Given the description of an element on the screen output the (x, y) to click on. 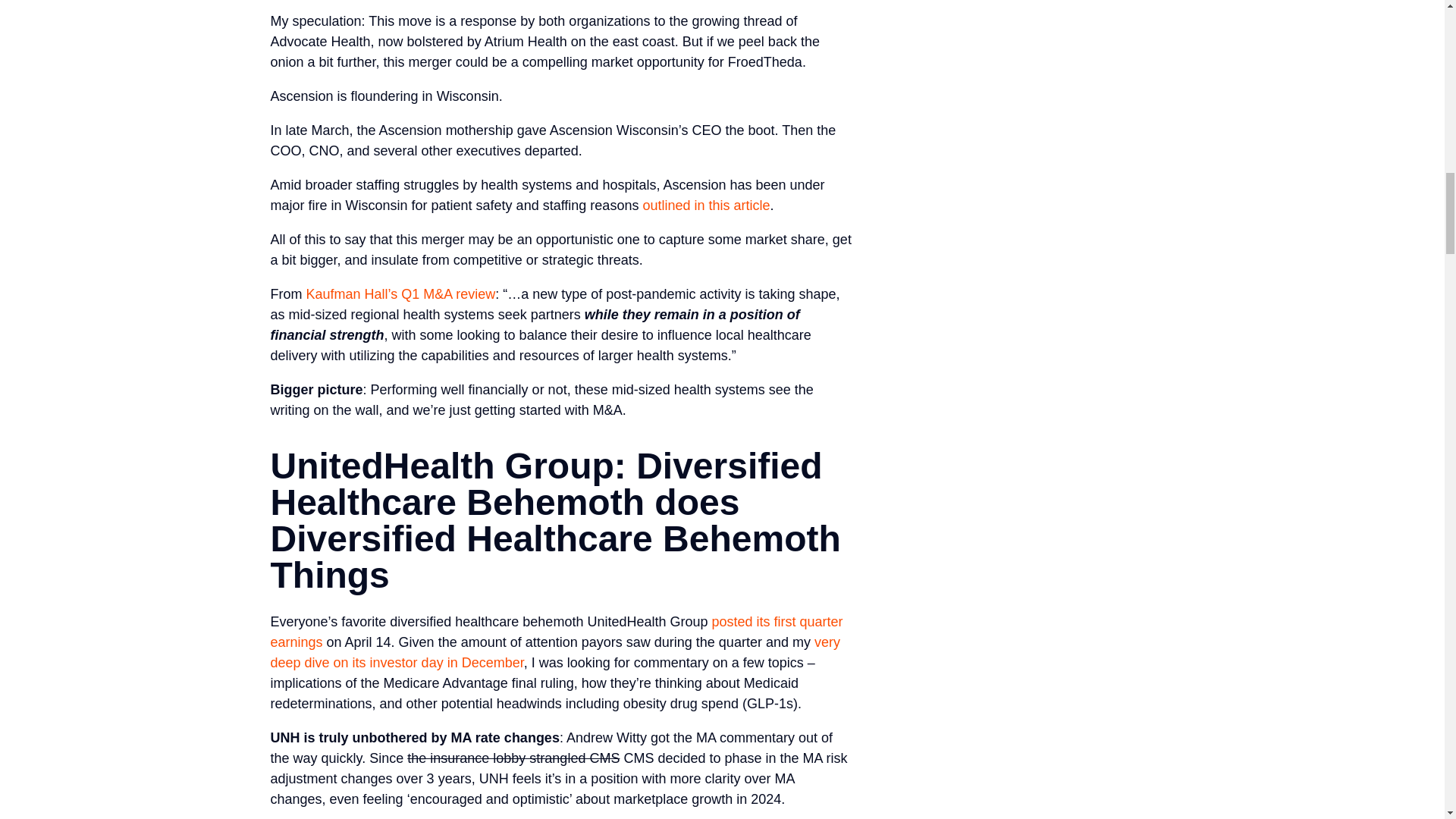
posted its first quarter earnings (556, 632)
outlined in this article (706, 205)
very deep dive on its investor day in December (554, 652)
